Given the description of an element on the screen output the (x, y) to click on. 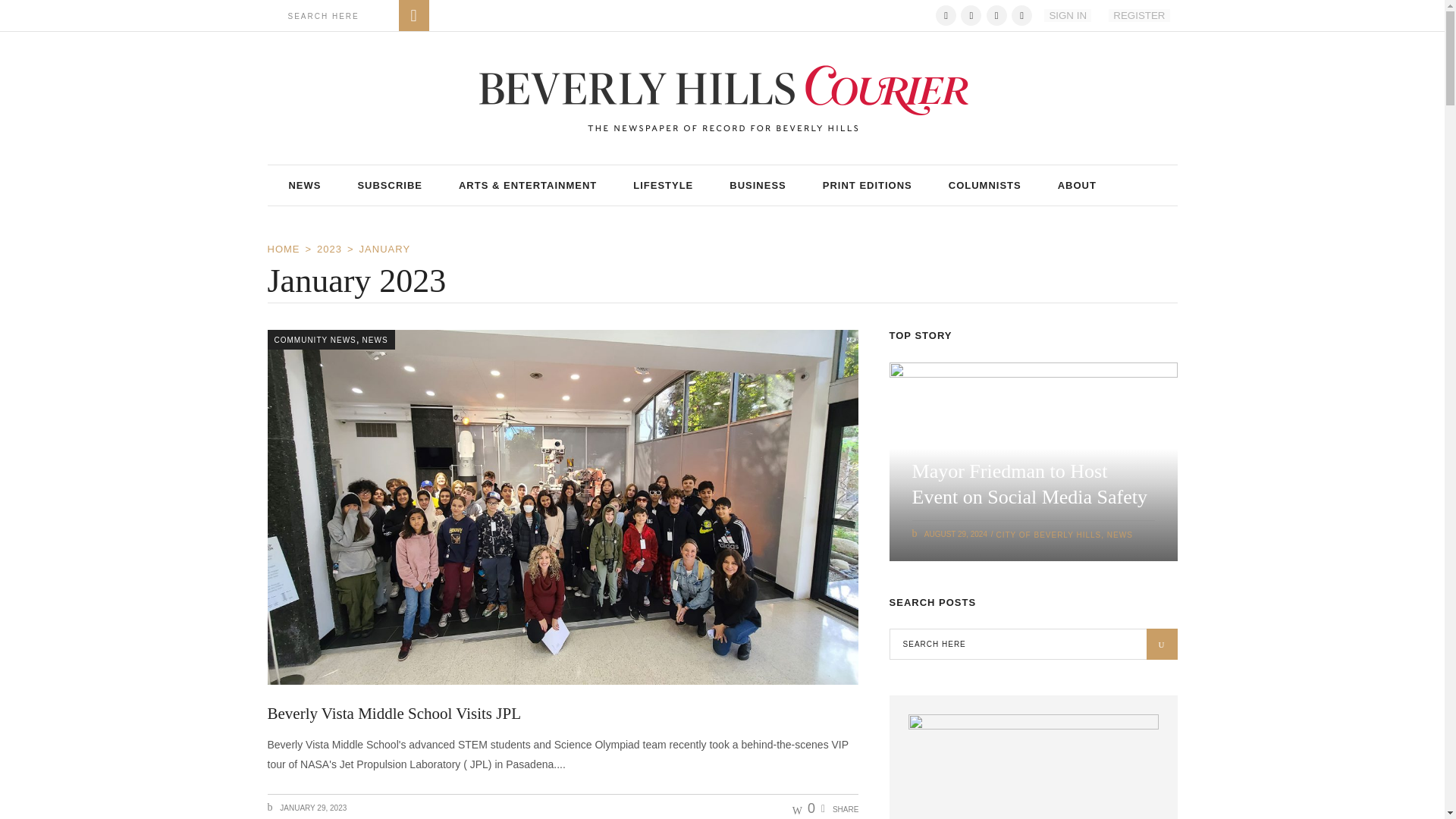
REGISTER (1138, 15)
COLUMNISTS (984, 185)
U (1162, 644)
Beverly Vista Middle School Visits JPL (392, 713)
PRINT EDITIONS (867, 185)
NEWS (304, 185)
SIGN IN (1066, 15)
Like this (803, 807)
BUSINESS (757, 185)
